Given the description of an element on the screen output the (x, y) to click on. 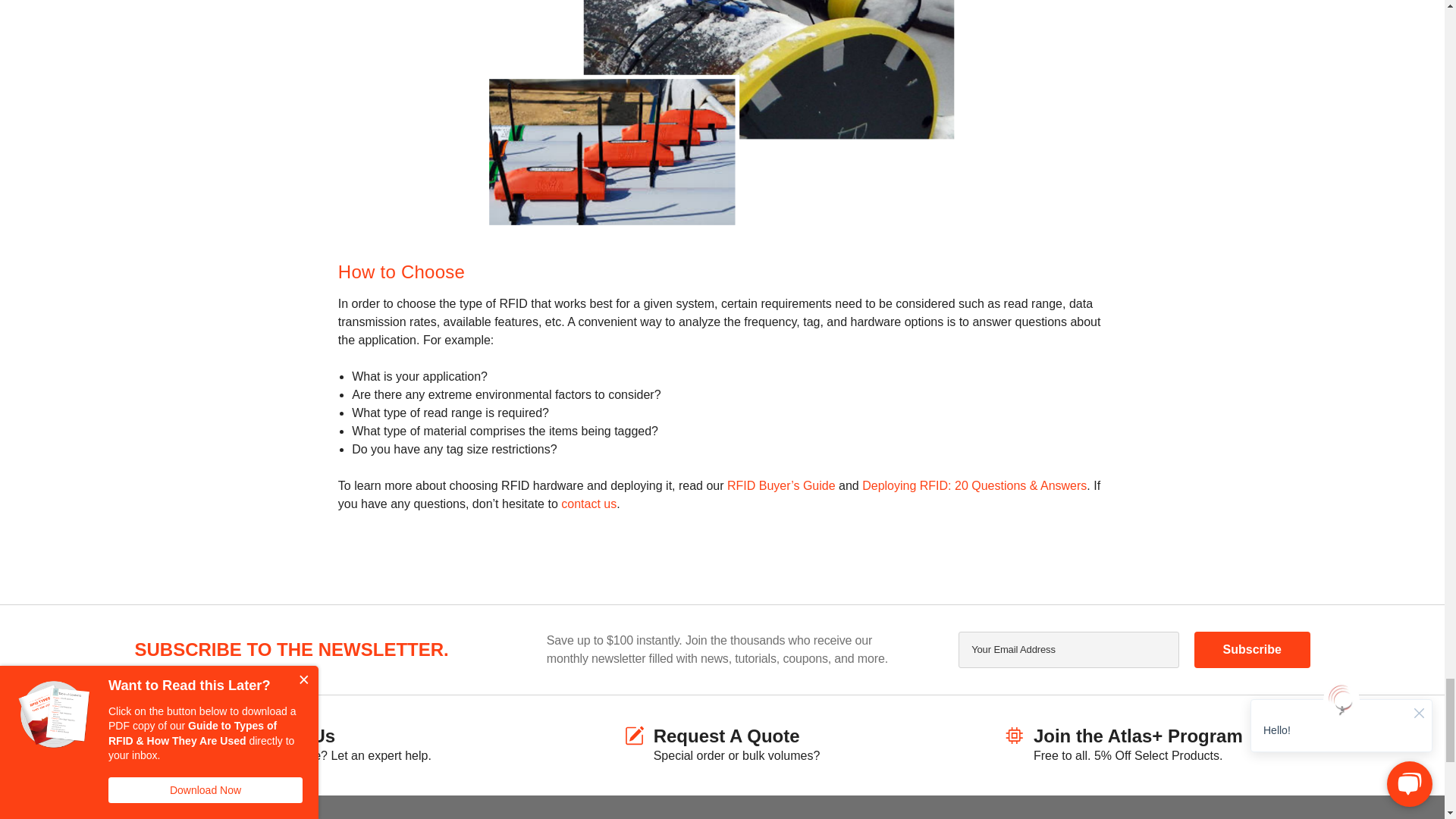
Subscribe (1250, 649)
